Given the description of an element on the screen output the (x, y) to click on. 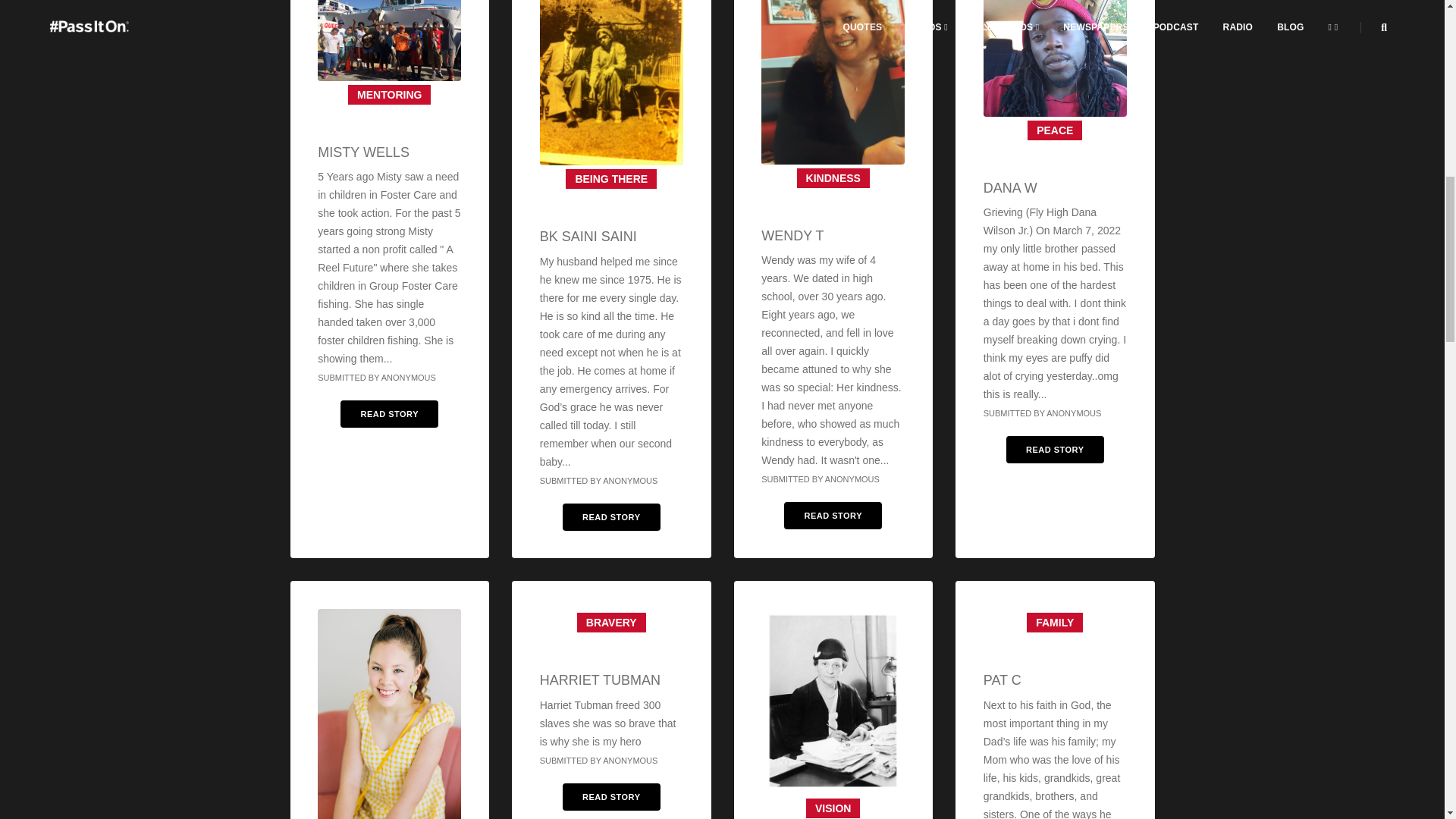
READ STORY (833, 515)
PEACE (1054, 129)
KINDNESS (833, 178)
READ STORY (1054, 449)
MENTORING (389, 93)
READ STORY (389, 413)
BEING THERE (611, 178)
READ STORY (611, 516)
